Given the description of an element on the screen output the (x, y) to click on. 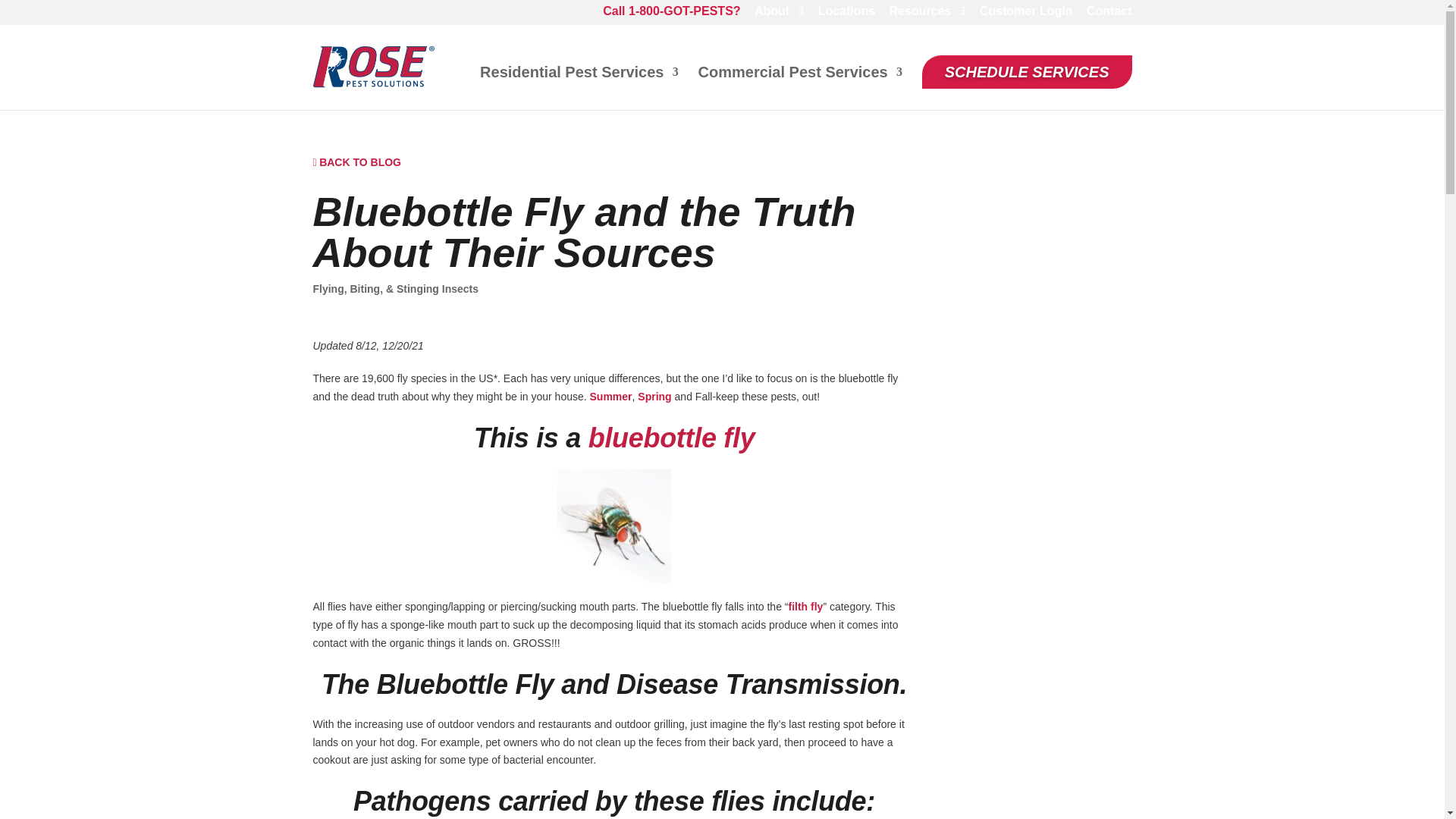
Locations (847, 15)
bluebottle fly (671, 437)
About (778, 15)
Resources (927, 15)
Spring (654, 396)
Call 1-800-GOT-PESTS? (670, 15)
BACK TO BLOG (356, 162)
Customer Login (1026, 15)
Summer (610, 396)
Contact (1109, 15)
bluebottle fly (671, 437)
Commercial Pest Services (800, 84)
SCHEDULE SERVICES (1026, 71)
Residential Pest Services (579, 84)
